Given the description of an element on the screen output the (x, y) to click on. 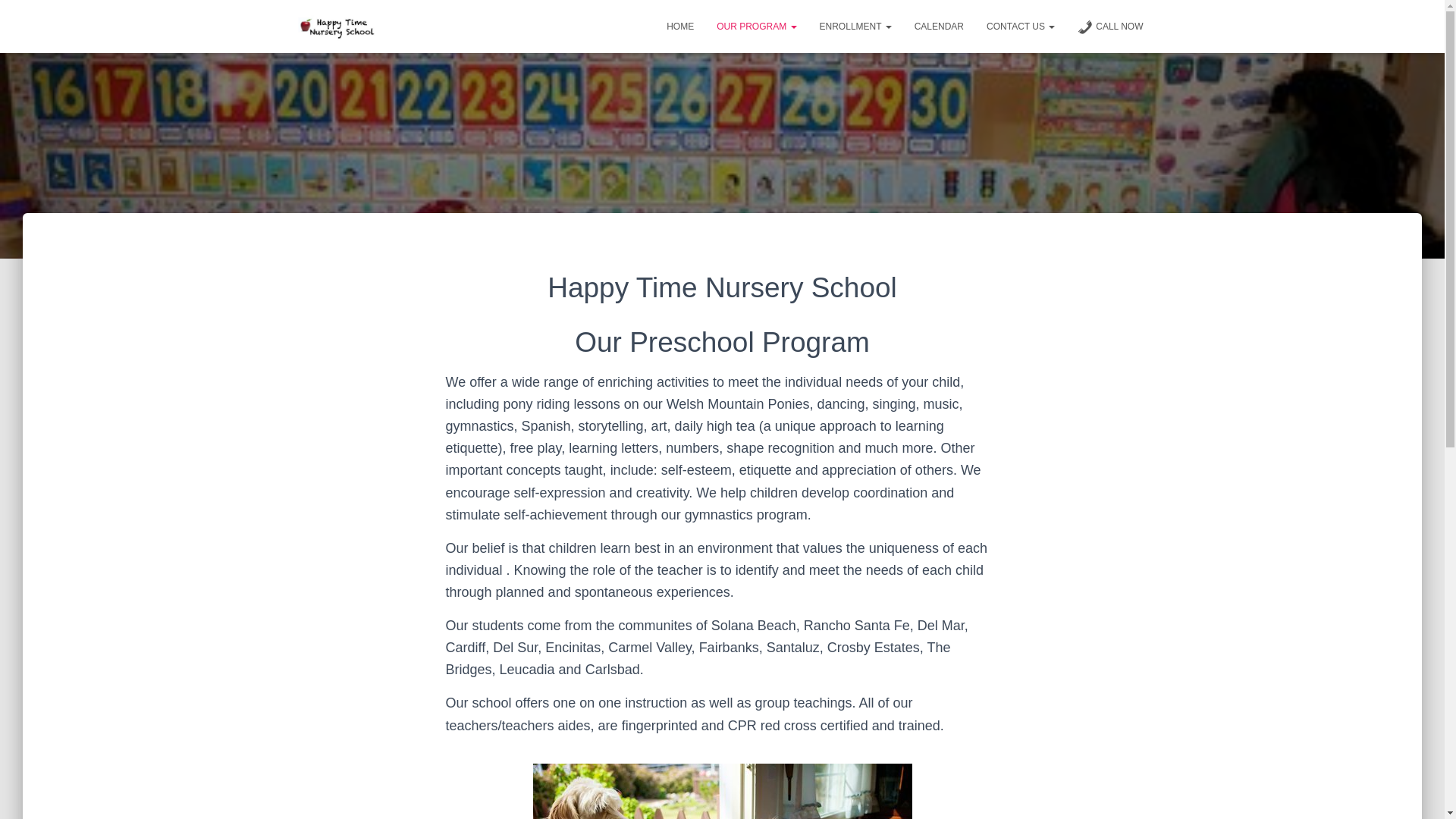
CALENDAR (938, 26)
Our Program (756, 26)
HOME (679, 26)
Calendar (938, 26)
Enrollment (855, 26)
ENROLLMENT (855, 26)
Happy Time Nursery School (338, 26)
OUR PROGRAM (756, 26)
Home (679, 26)
Call Now (1109, 26)
Contact Us (1020, 26)
CALL NOW (1109, 26)
CONTACT US (1020, 26)
